Given the description of an element on the screen output the (x, y) to click on. 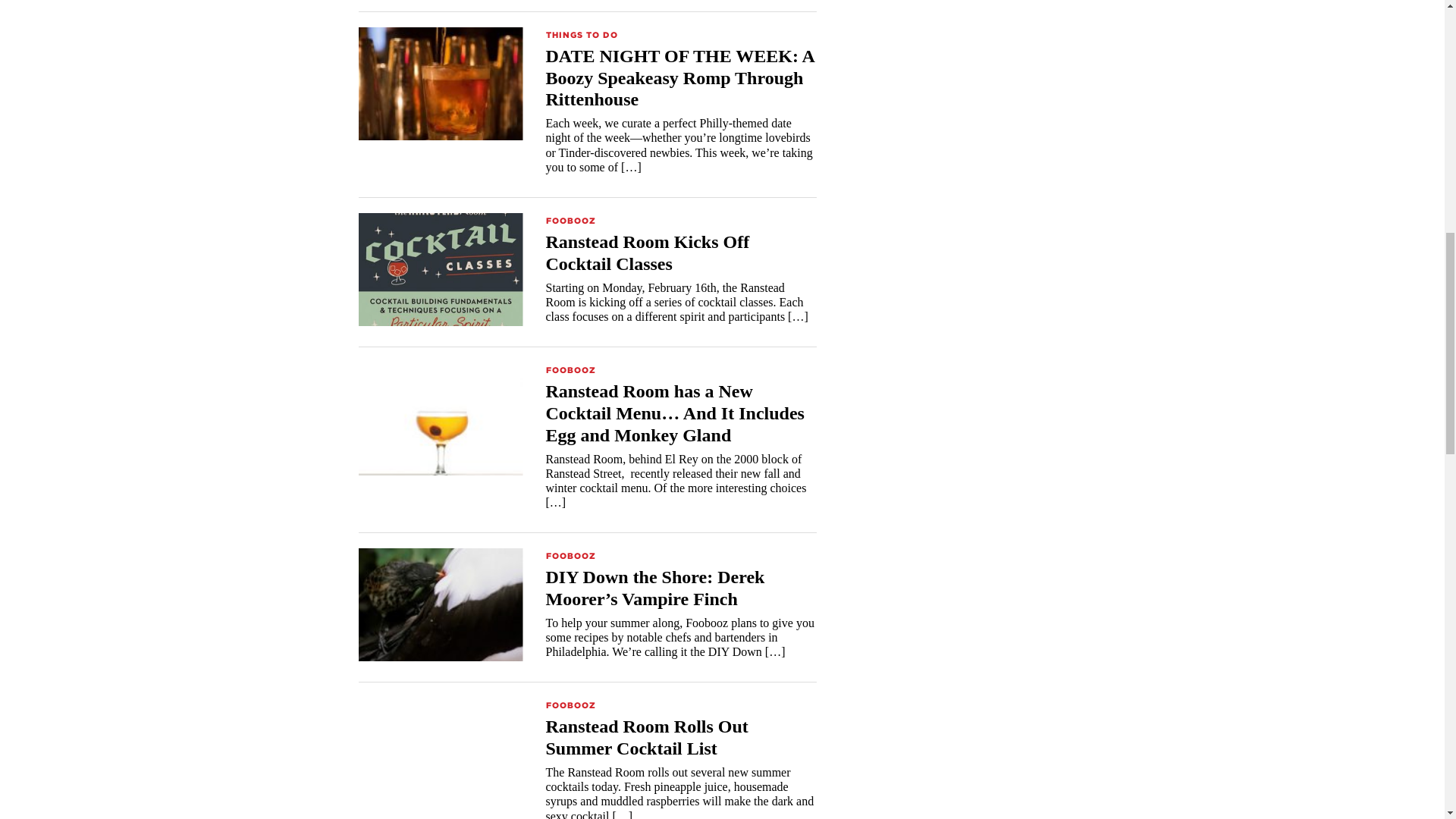
3rd party ad content (969, 9)
